Given the description of an element on the screen output the (x, y) to click on. 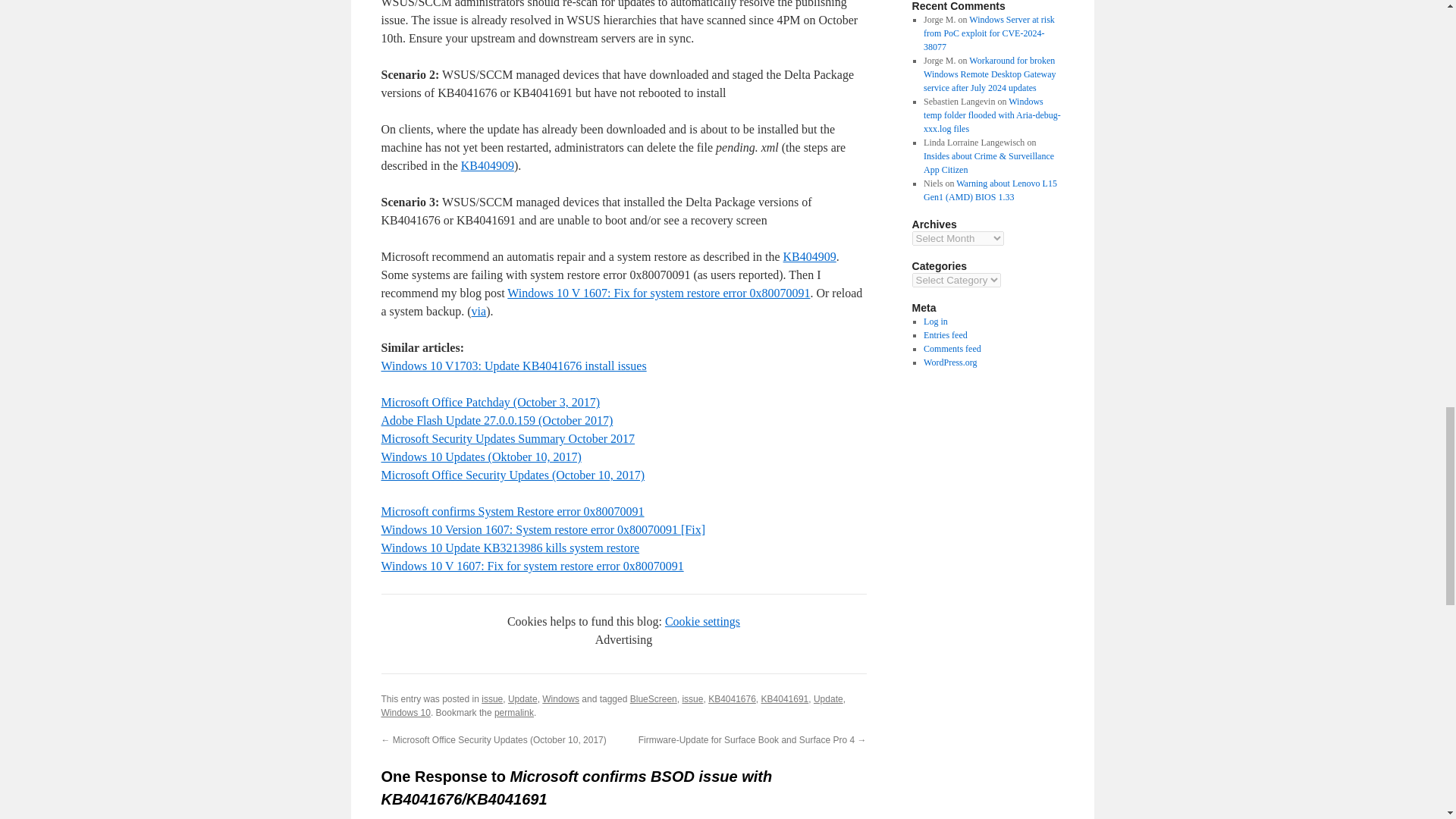
BlueScreen (653, 698)
Windows 10 Update KB3213986 kills system restore (509, 547)
Microsoft confirms System Restore error 0x80070091 (511, 511)
via (478, 310)
Microsoft Security Updates Summary October 2017 (507, 438)
Windows 10 V 1607: Fix for system restore error 0x80070091 (531, 565)
Windows (560, 698)
KB404909 (487, 164)
Cookie settings (702, 621)
Windows 10 V1703: Update KB4041676 install issues (513, 365)
